Given the description of an element on the screen output the (x, y) to click on. 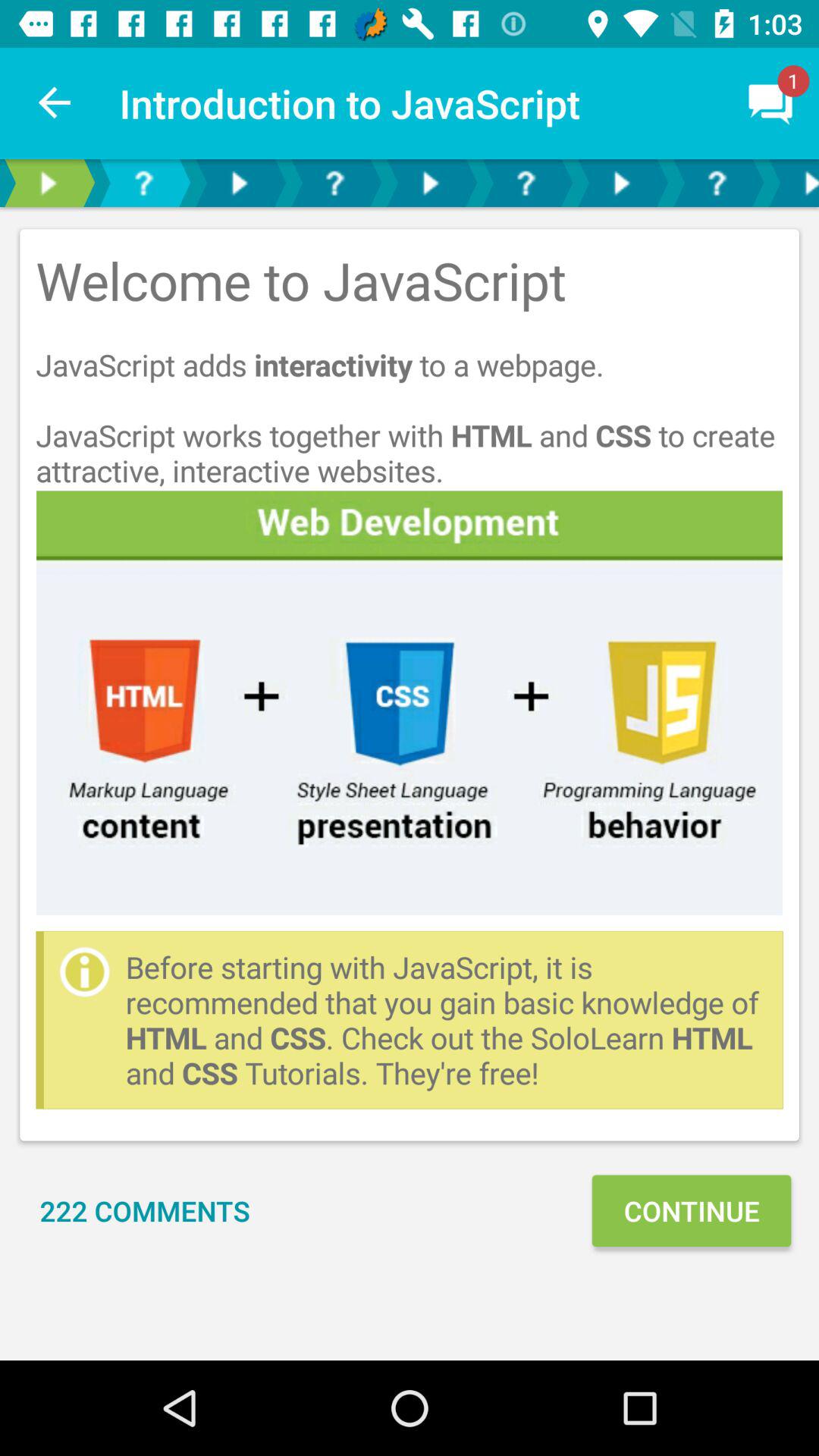
launch item next to the continue item (144, 1210)
